Given the description of an element on the screen output the (x, y) to click on. 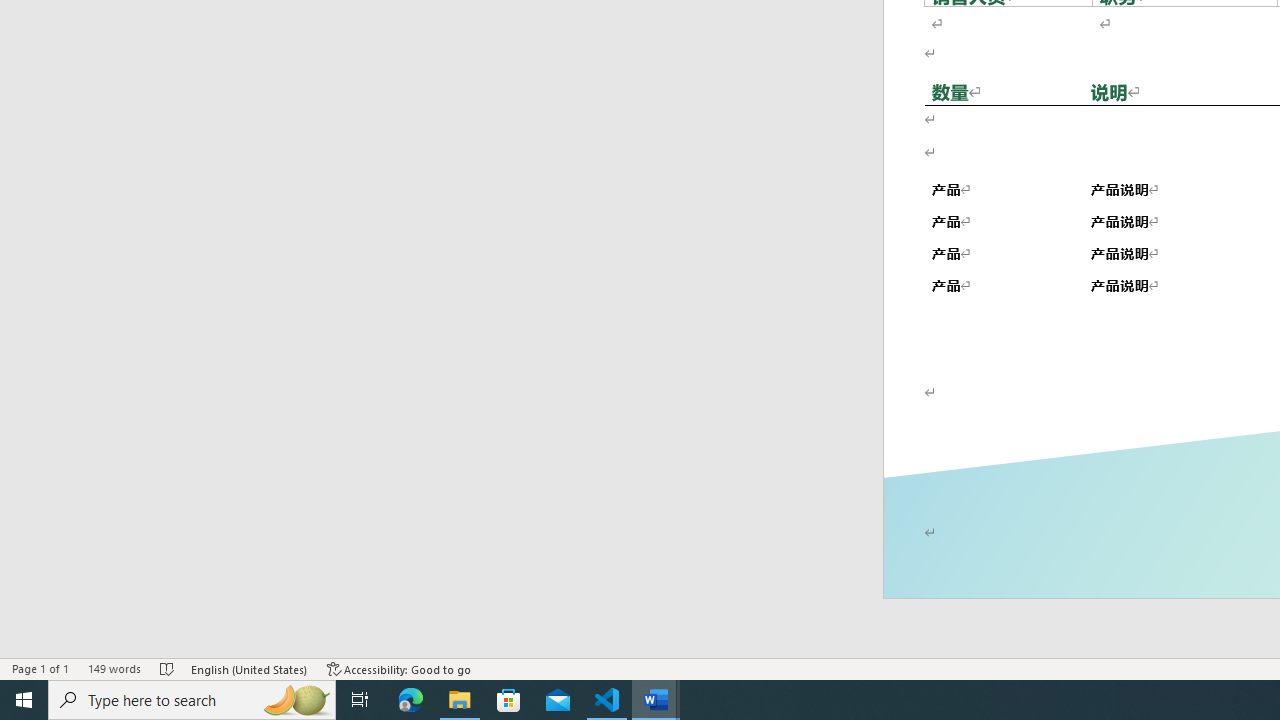
Word - 2 running windows (656, 699)
Page Number Page 1 of 1 (39, 668)
File Explorer - 1 running window (460, 699)
Microsoft Edge (411, 699)
Spelling and Grammar Check No Errors (168, 668)
